Given the description of an element on the screen output the (x, y) to click on. 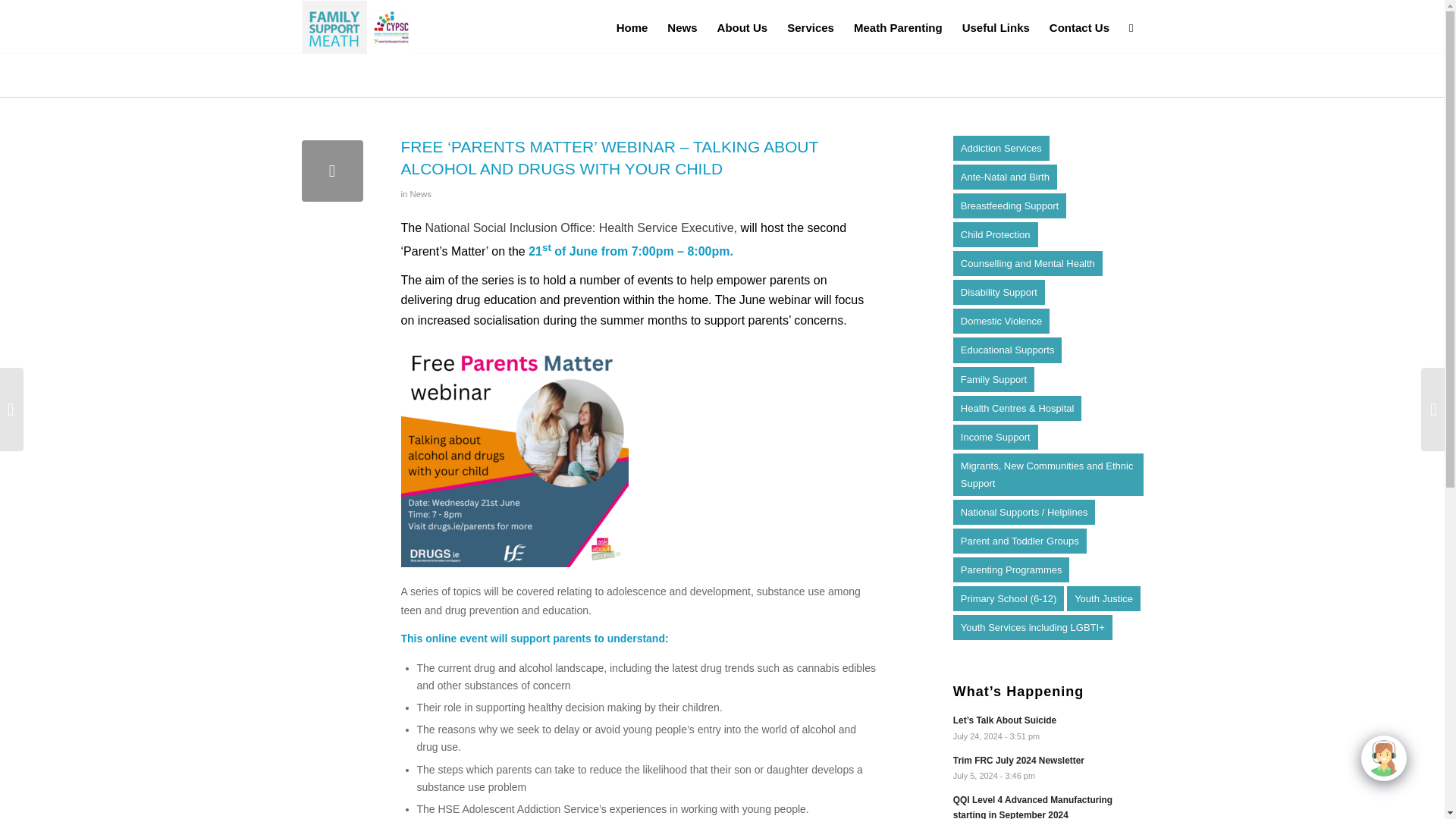
News (419, 194)
Contact Us (1079, 27)
News (682, 27)
Useful Links (995, 27)
Blog - Latest News (352, 74)
Ante-Natal and Birth (1005, 176)
Meath Parenting (898, 27)
Permanent Link: Blog - Latest News (352, 74)
Services (810, 27)
Home (632, 27)
Addiction Services (1001, 147)
About Us (742, 27)
Trim FRC July 2024 Newsletter (1047, 766)
